Given the description of an element on the screen output the (x, y) to click on. 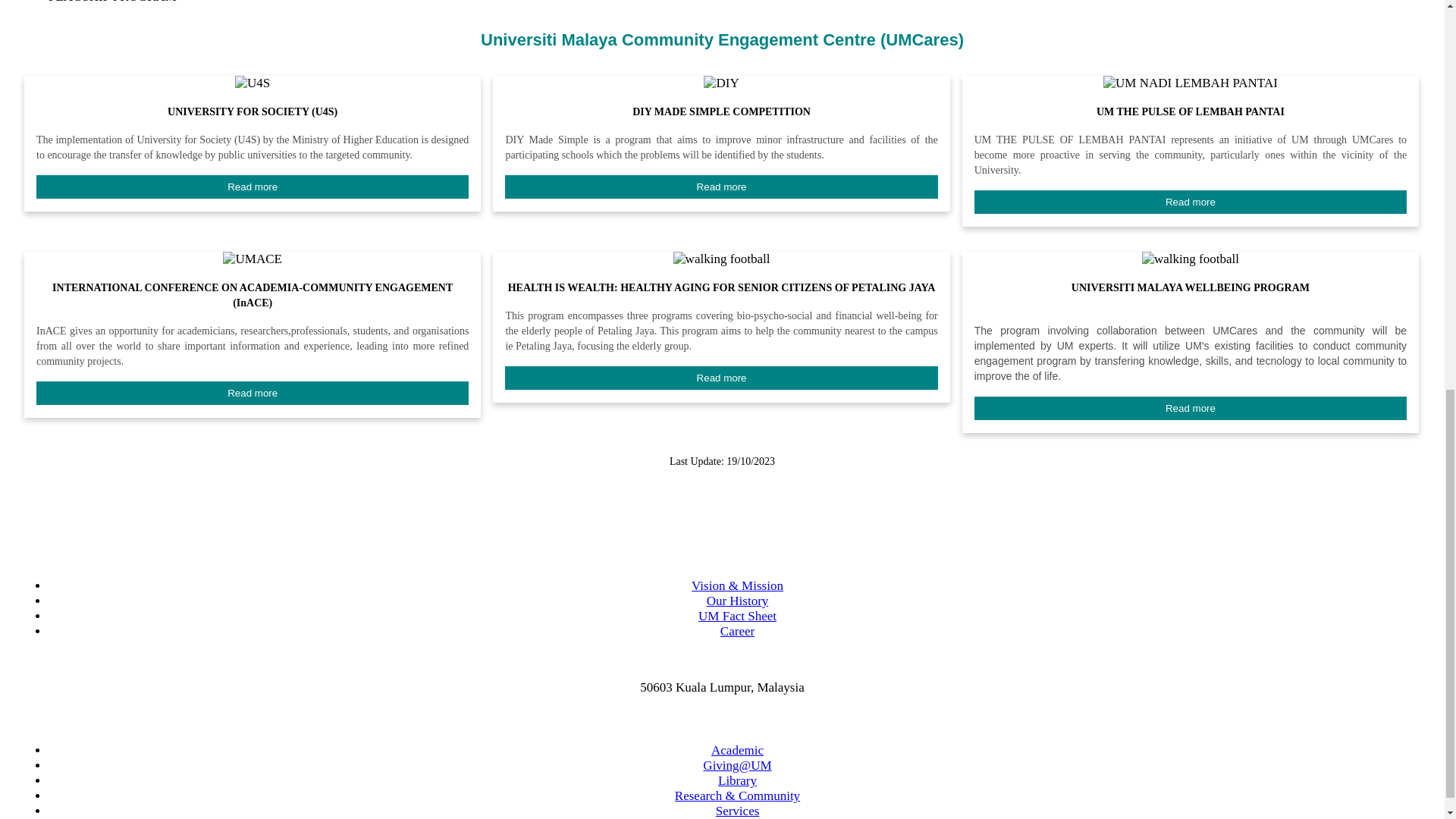
Read more (721, 186)
Read more (252, 186)
Read more (1190, 202)
Read more (252, 187)
Read more (721, 187)
